Given the description of an element on the screen output the (x, y) to click on. 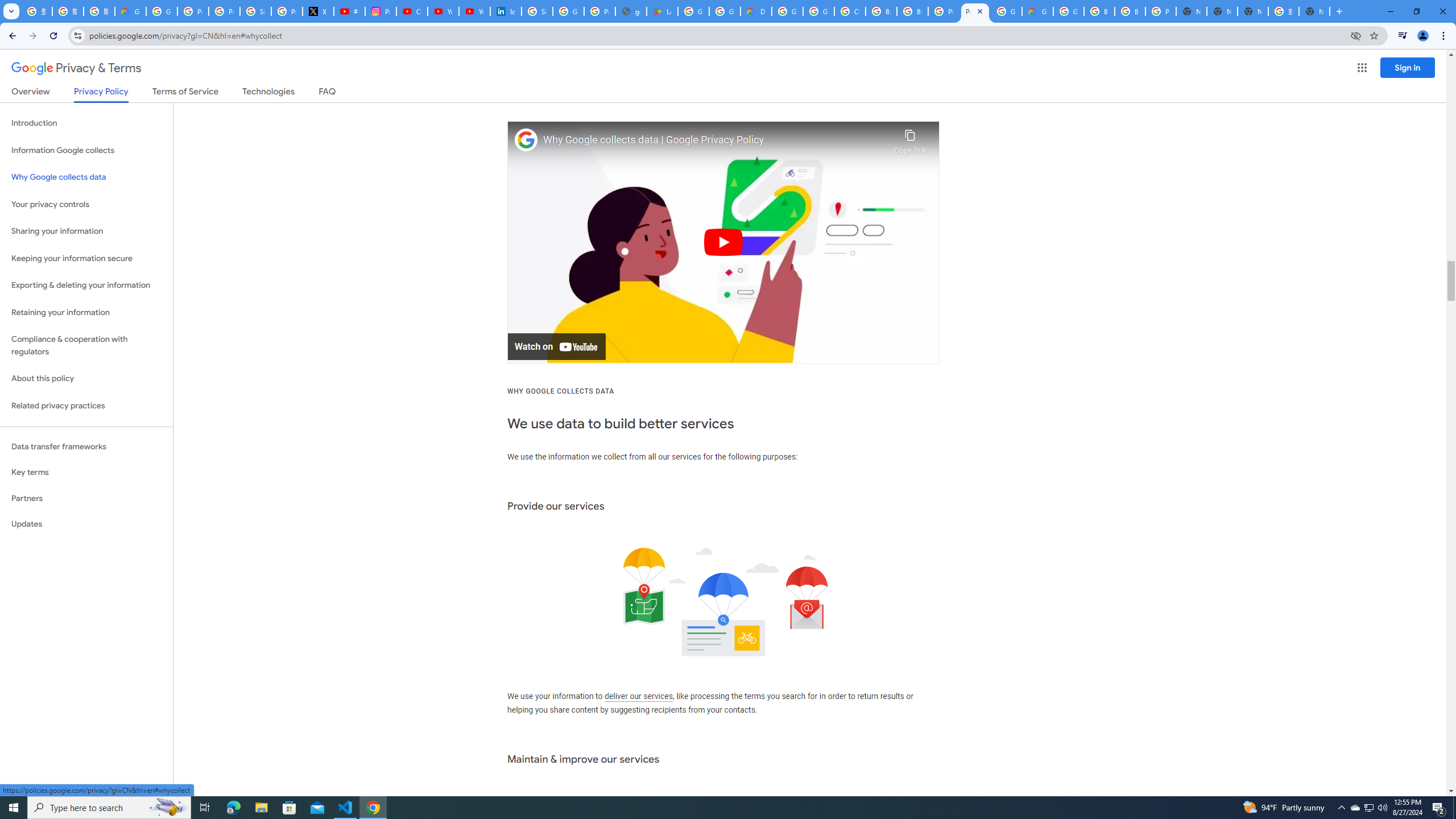
Browse Chrome as a guest - Computer - Google Chrome Help (1129, 11)
google_privacy_policy_en.pdf (631, 11)
Google Cloud Estimate Summary (1037, 11)
Sharing your information (86, 230)
Why Google collects data (86, 176)
Privacy Help Center - Policies Help (223, 11)
Data transfer frameworks (86, 446)
